Given the description of an element on the screen output the (x, y) to click on. 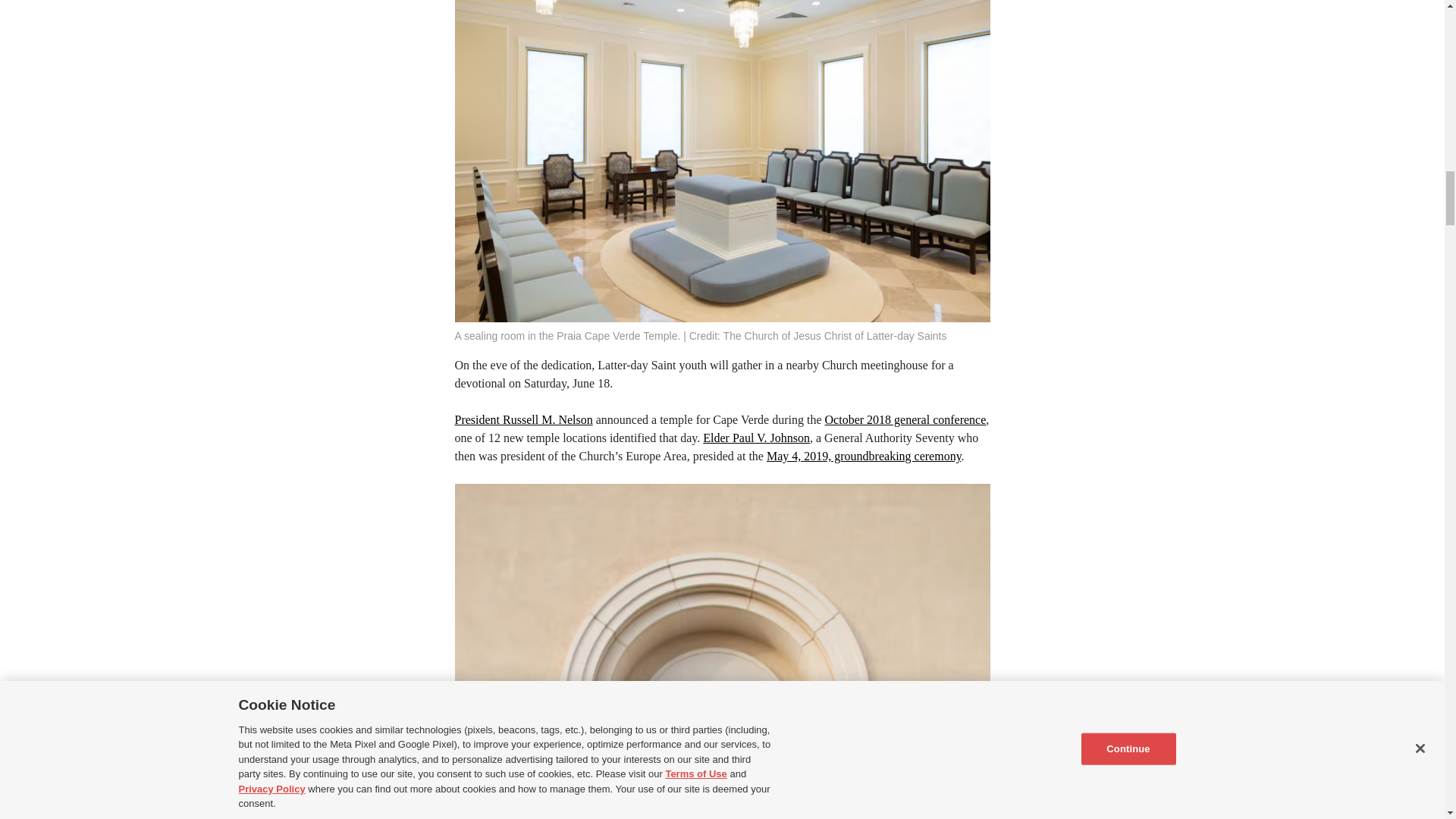
President Russell M. Nelson (523, 419)
October 2018 general conference (906, 419)
